Given the description of an element on the screen output the (x, y) to click on. 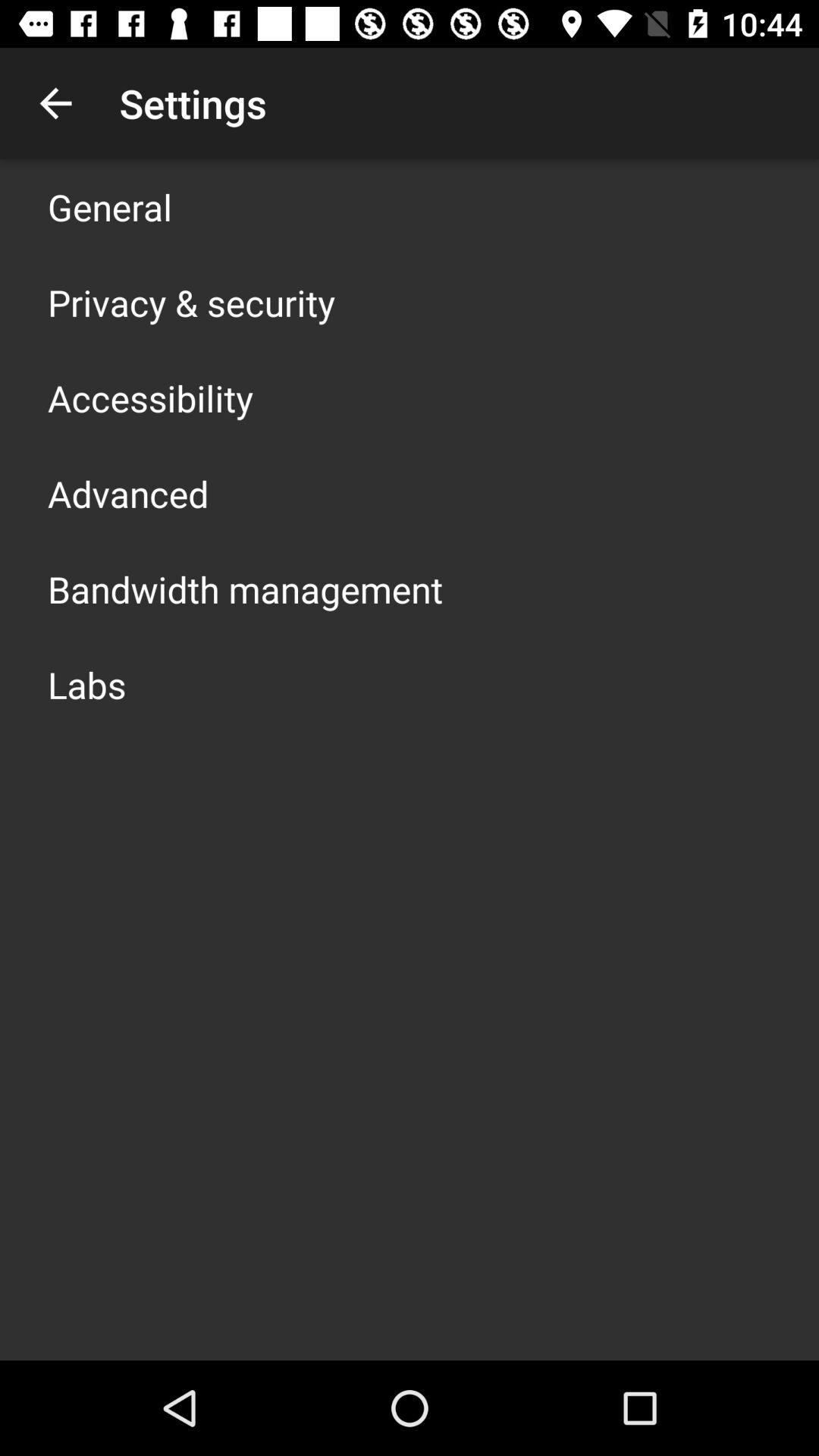
turn on the app above the advanced icon (150, 397)
